Given the description of an element on the screen output the (x, y) to click on. 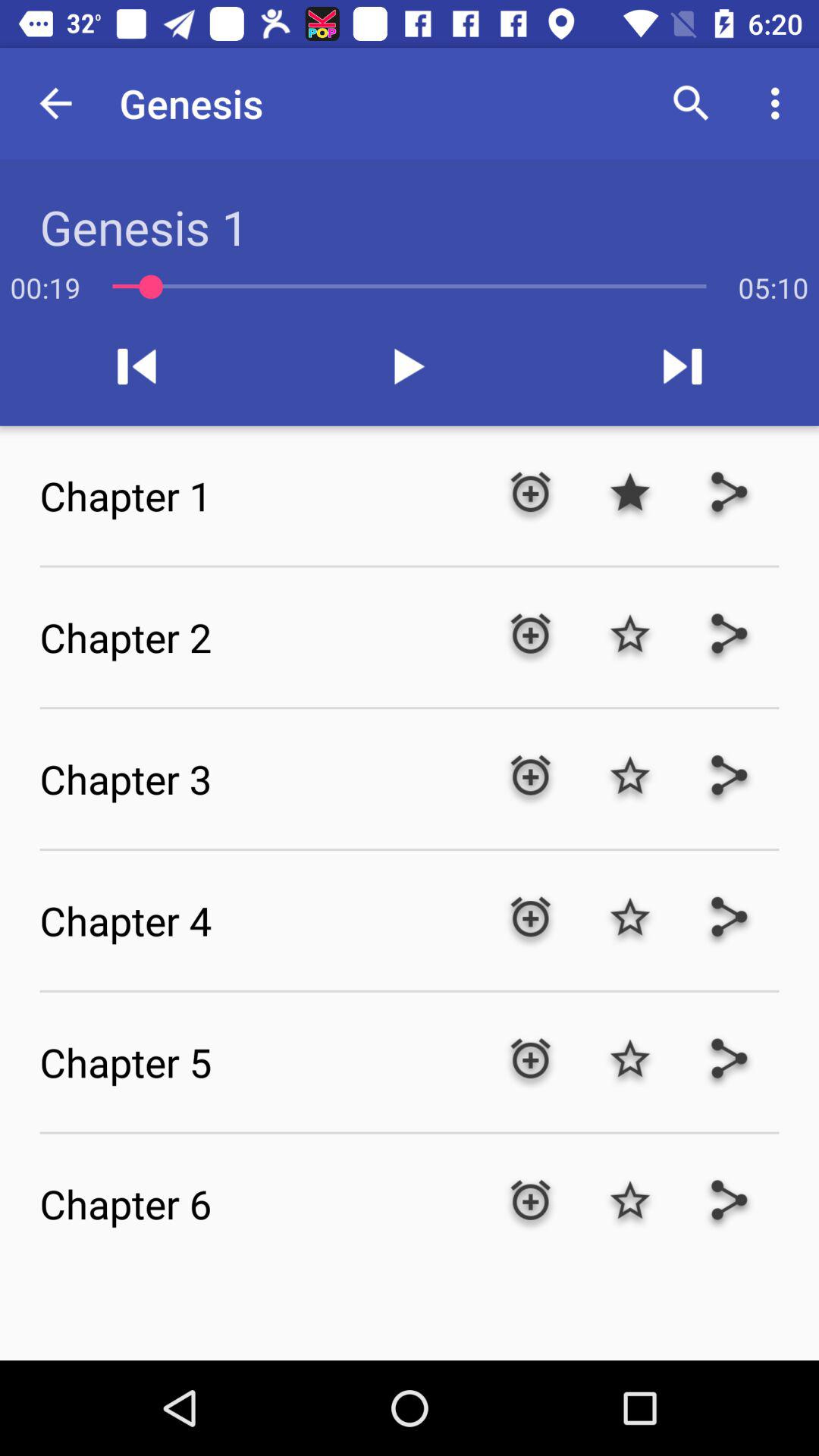
scroll to the chapter 1 item (259, 495)
